Given the description of an element on the screen output the (x, y) to click on. 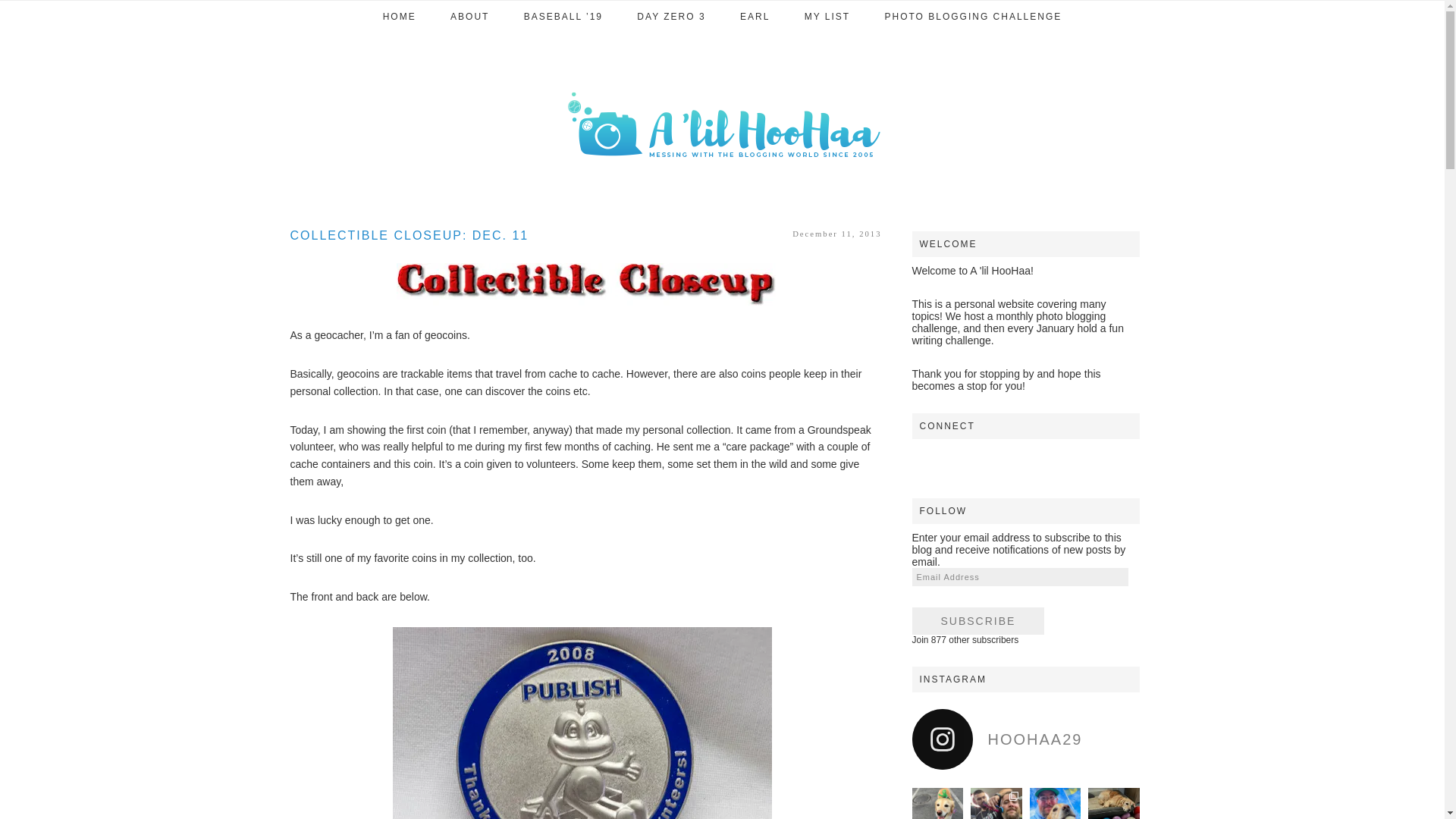
HOME (399, 16)
DAY ZERO 3 (670, 16)
EARL (754, 16)
PHOTO BLOGGING CHALLENGE (973, 16)
ABOUT (469, 16)
A 'LIL HOOHAA (722, 123)
MY LIST (826, 16)
